Given the description of an element on the screen output the (x, y) to click on. 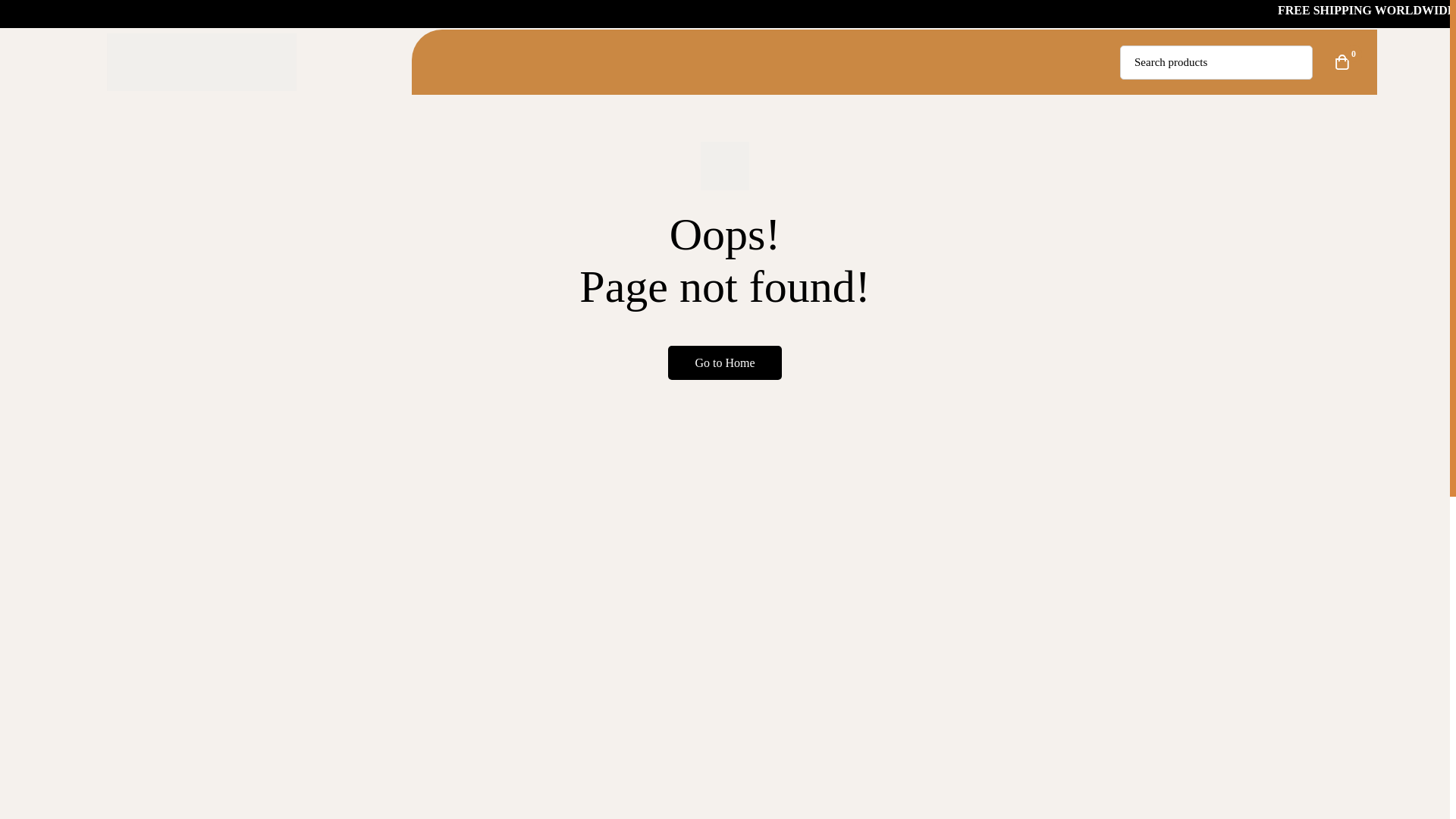
0 (1342, 62)
Go to Home (724, 362)
Search for: (1216, 62)
